Given the description of an element on the screen output the (x, y) to click on. 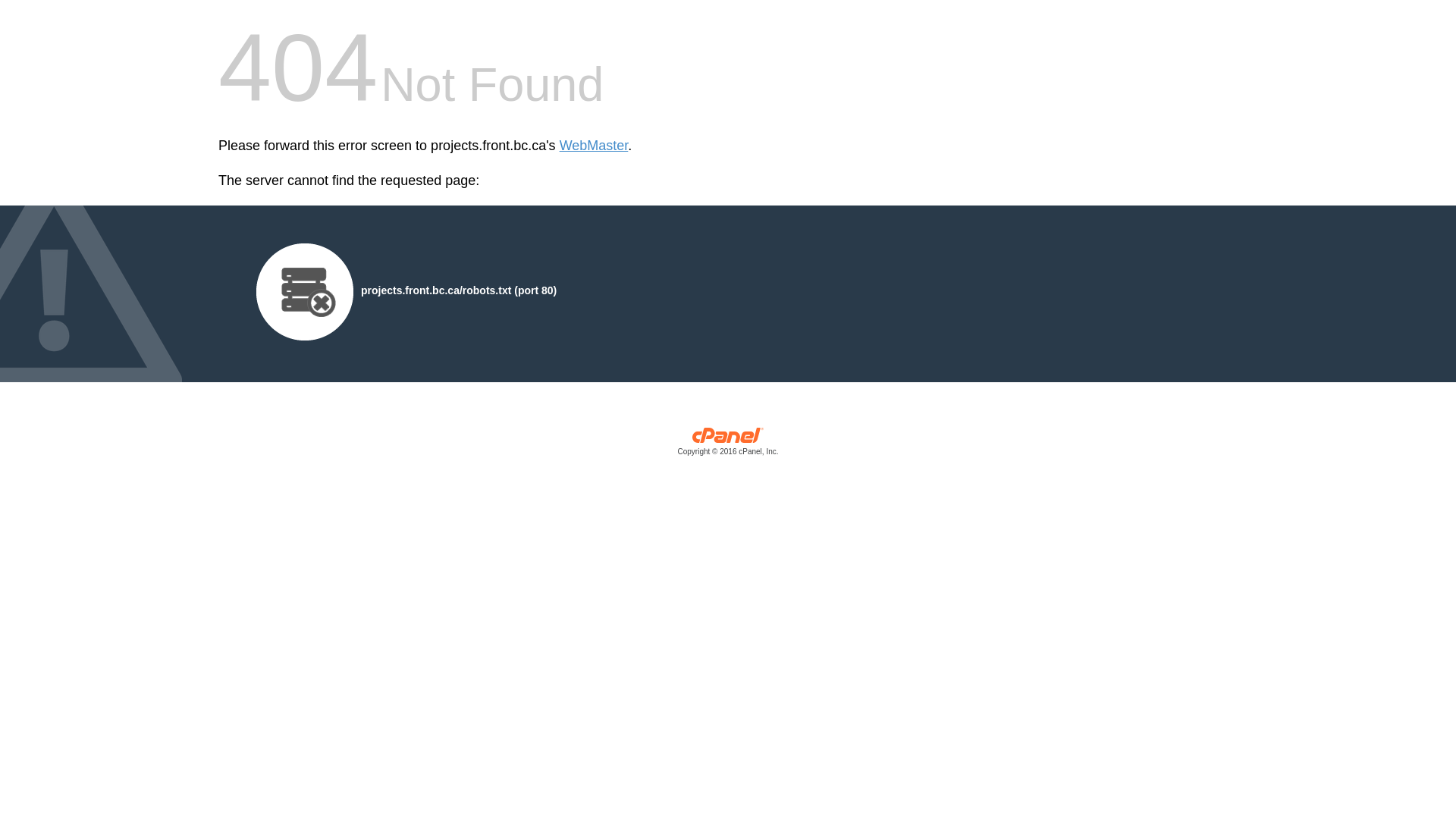
WebMaster Element type: text (593, 145)
